Given the description of an element on the screen output the (x, y) to click on. 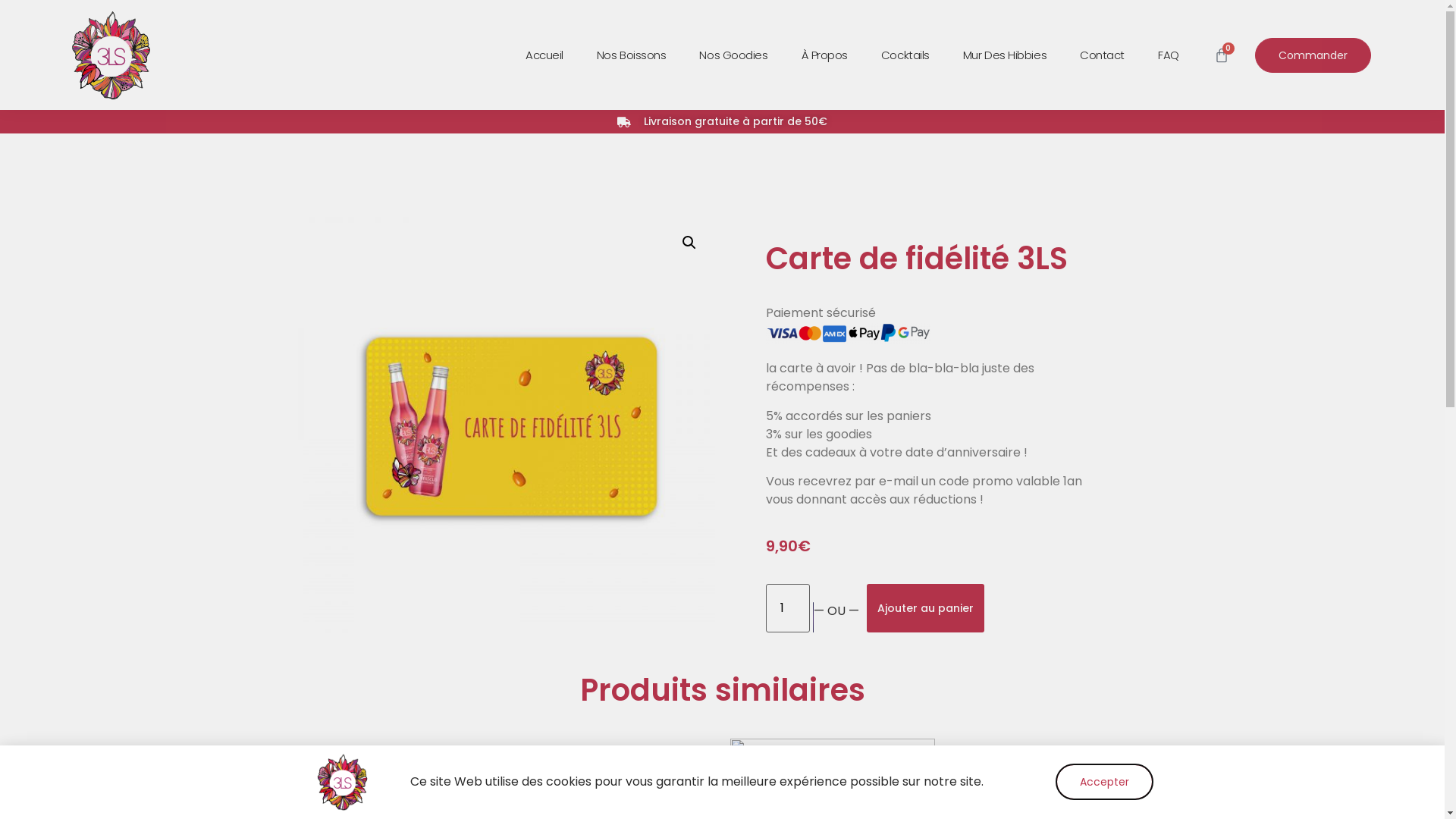
Commander Element type: text (1313, 54)
FAQ Element type: text (1168, 55)
Cocktails Element type: text (905, 55)
0 Element type: text (1221, 55)
Nos Boissons Element type: text (631, 55)
Accepter Element type: text (1104, 781)
Plan de travail 1 Element type: hover (505, 424)
Contact Element type: text (1102, 55)
Mur Des Hibbies Element type: text (1004, 55)
Ajouter au panier Element type: text (925, 607)
Nos Goodies Element type: text (732, 55)
Accueil Element type: text (544, 55)
